Given the description of an element on the screen output the (x, y) to click on. 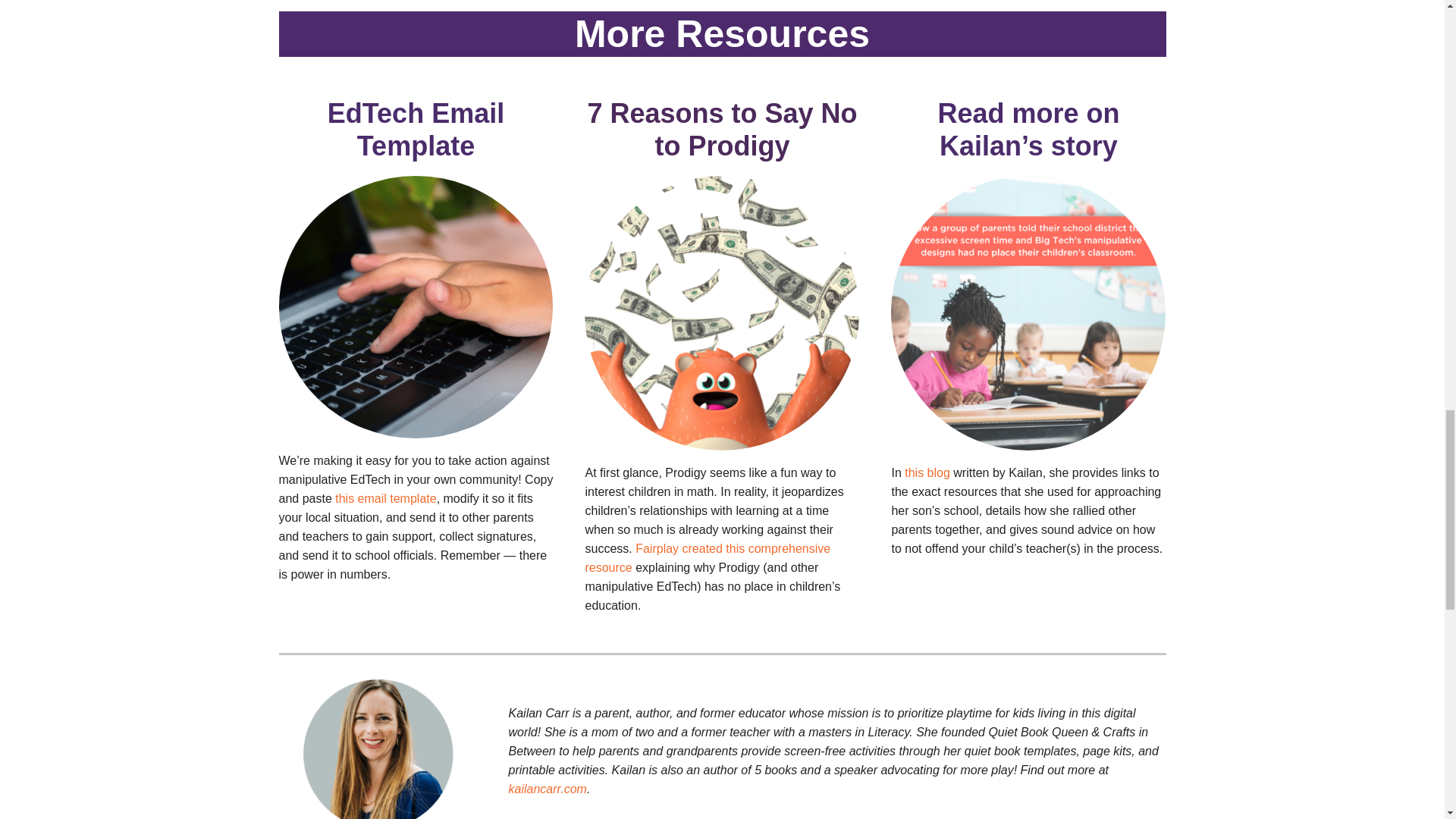
Copy-of-Prodigy-Featured-Image (722, 313)
7 Reasons to Say No to Prodigy (721, 129)
this email template (384, 498)
EdTech Email Template (415, 129)
Kailan (378, 737)
